Given the description of an element on the screen output the (x, y) to click on. 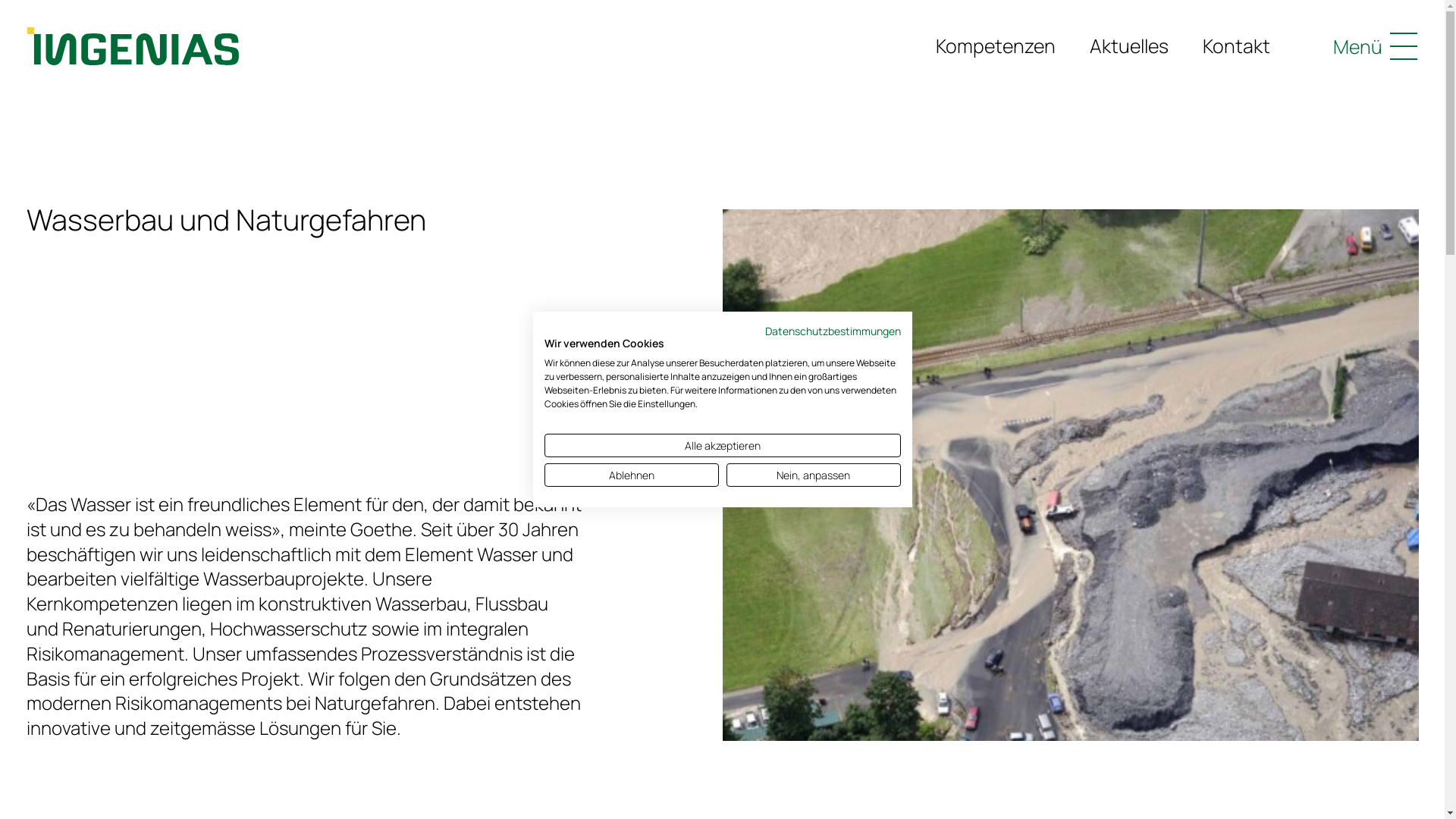
Ablehnen Element type: text (631, 474)
Alle akzeptieren Element type: text (722, 445)
Kompetenzen Element type: text (995, 45)
Nein, anpassen Element type: text (813, 474)
Kontakt Element type: text (1236, 45)
Datenschutzbestimmungen Element type: text (832, 330)
Aktuelles Element type: text (1128, 45)
